Given the description of an element on the screen output the (x, y) to click on. 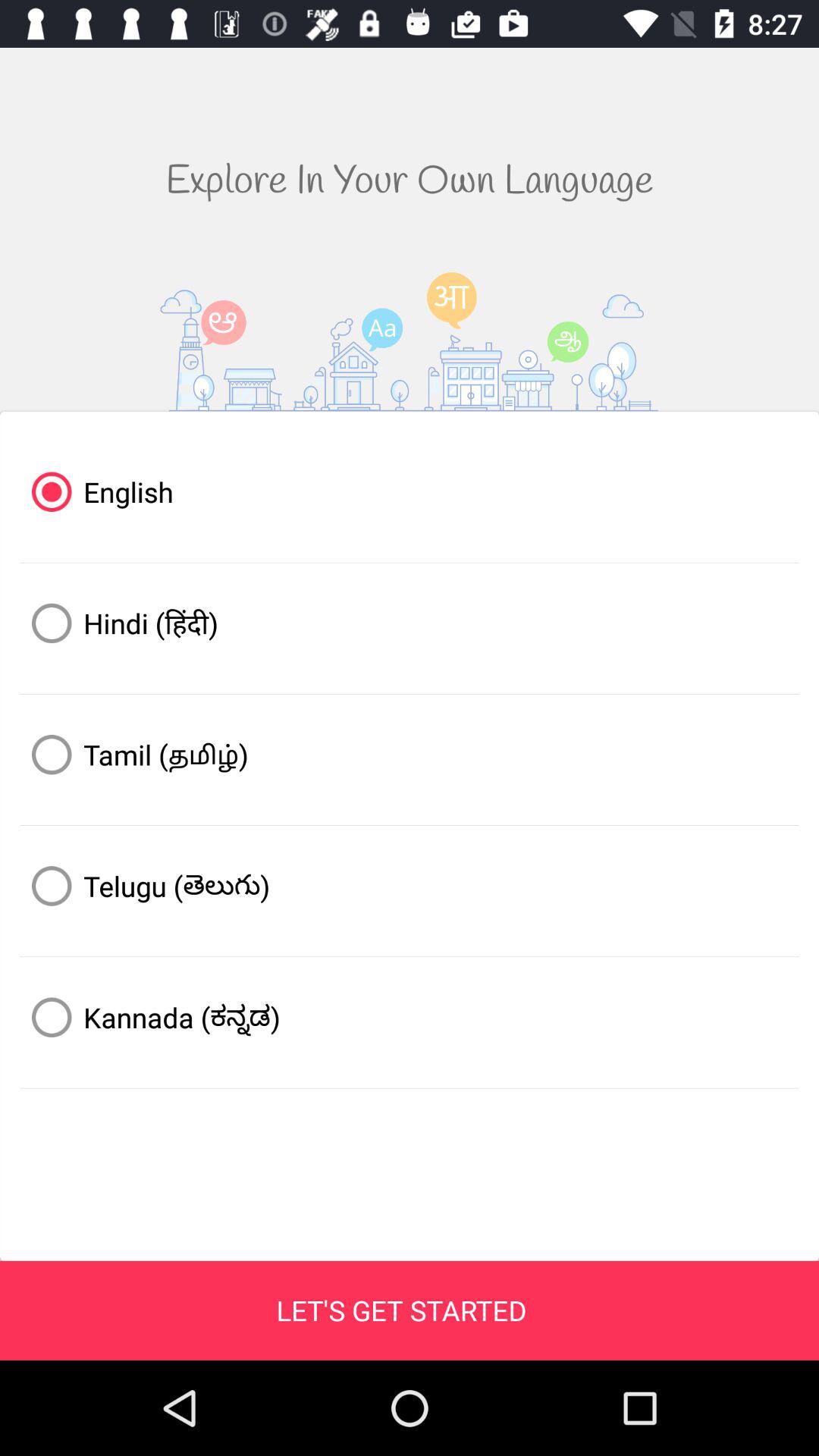
turn off the let s get icon (401, 1310)
